Given the description of an element on the screen output the (x, y) to click on. 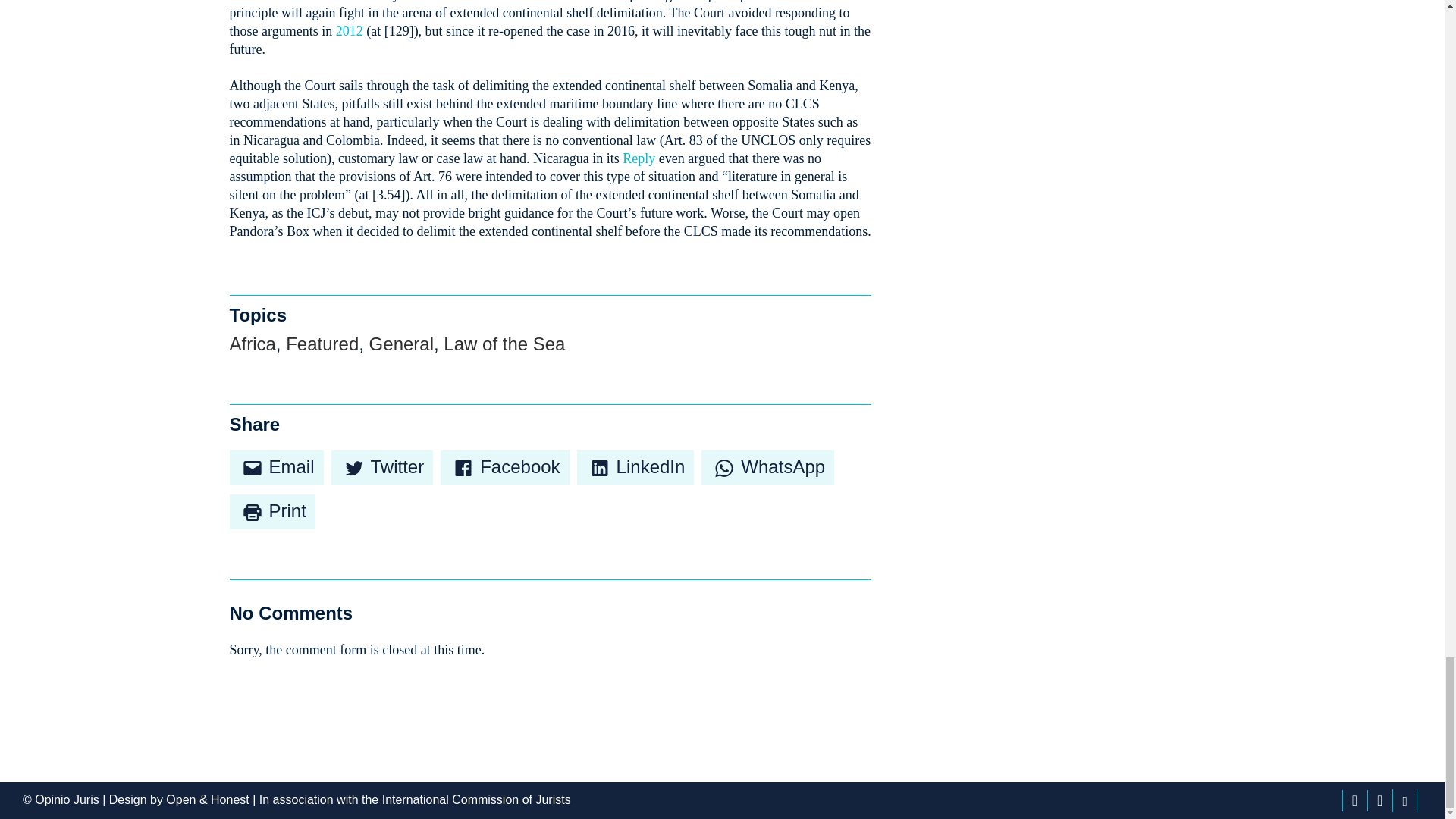
Click to print (271, 511)
Click to share on Twitter (382, 467)
Click to share on Facebook (505, 467)
Click to email this to a friend (275, 467)
Click to share on LinkedIn (635, 467)
Click to share on WhatsApp (767, 467)
